Given the description of an element on the screen output the (x, y) to click on. 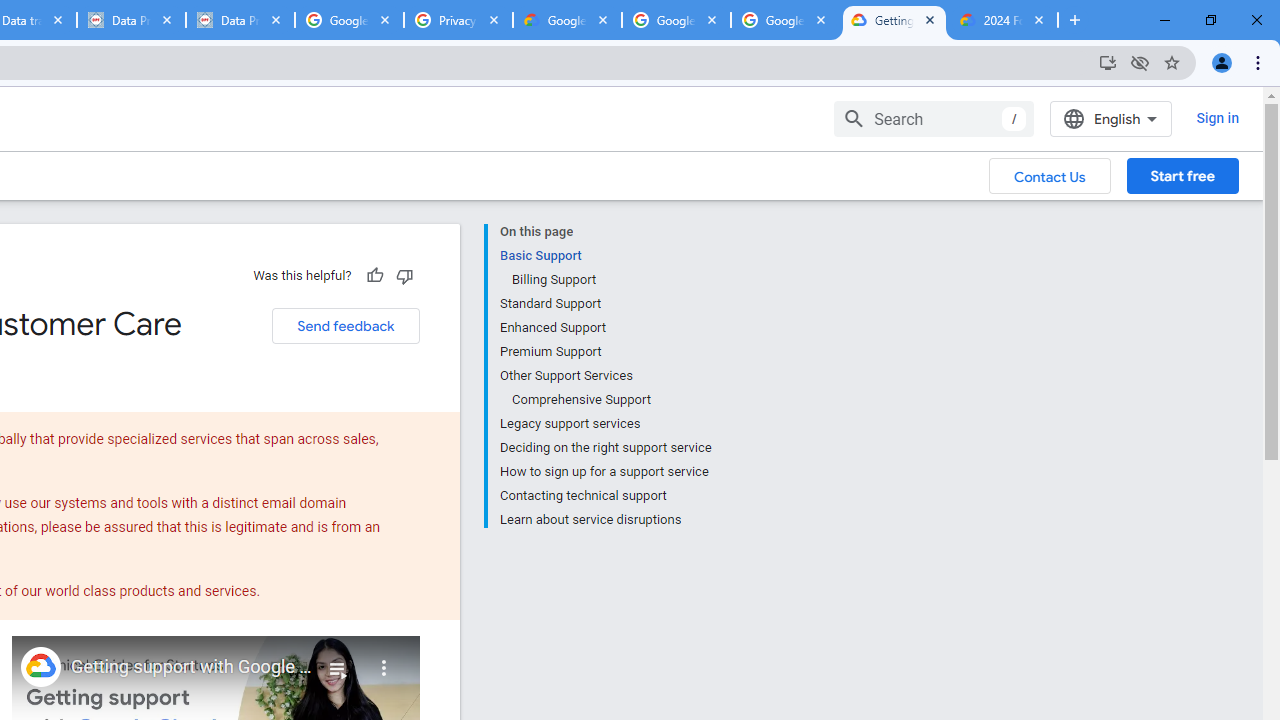
Photo image of Google Cloud Tech (40, 665)
Other Support Services (605, 376)
Playlist (337, 660)
Install Google Cloud (1107, 62)
Google Workspace - Specific Terms (676, 20)
Contacting technical support (605, 495)
More (384, 660)
Standard Support (605, 304)
English (1110, 118)
Legacy support services (605, 423)
Basic Support (605, 255)
